Given the description of an element on the screen output the (x, y) to click on. 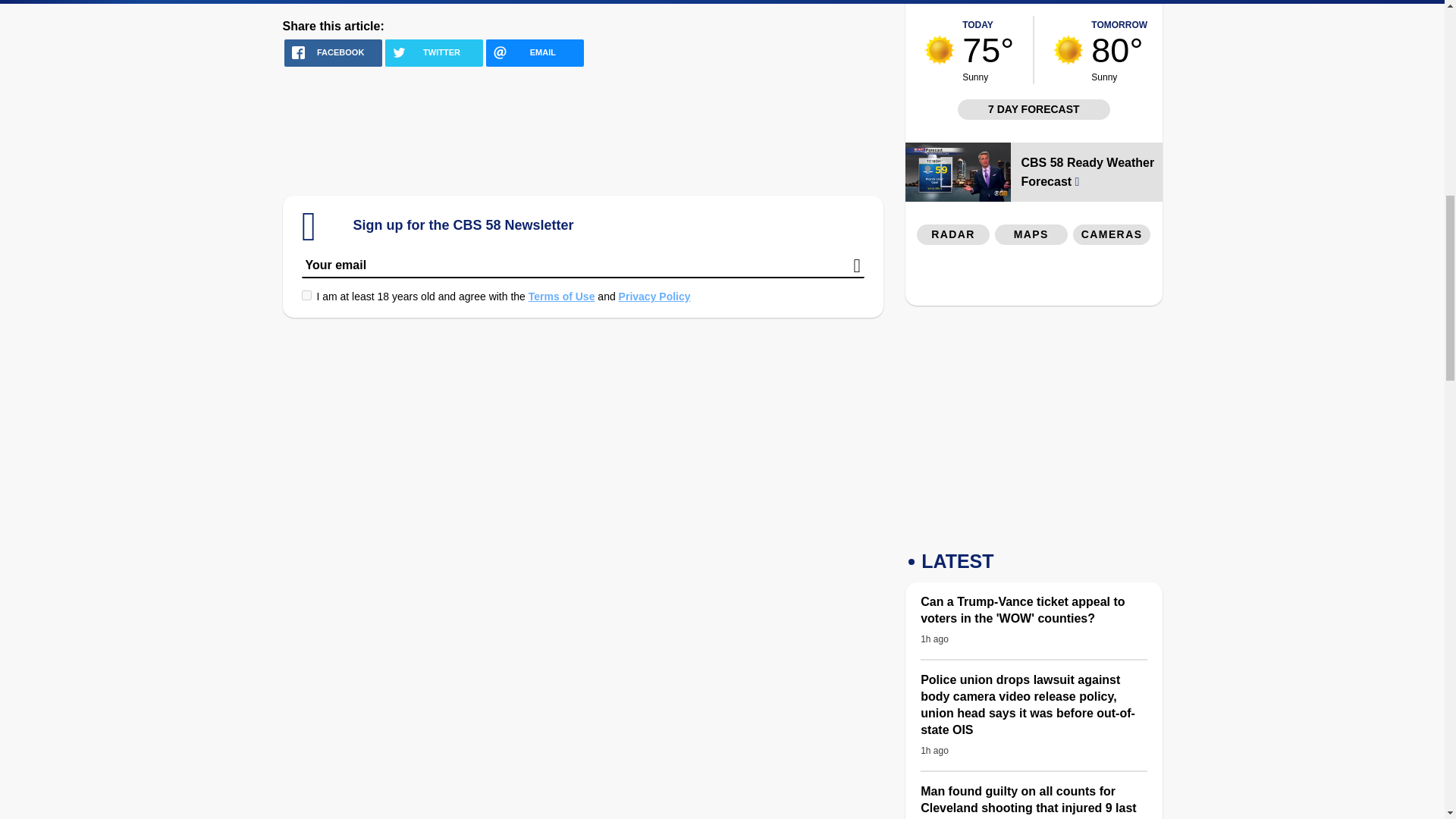
weather (1067, 50)
on (306, 295)
weather (939, 50)
3rd party ad content (1034, 279)
3rd party ad content (583, 131)
3rd party ad content (1112, 4)
3rd party ad content (1033, 422)
